Given the description of an element on the screen output the (x, y) to click on. 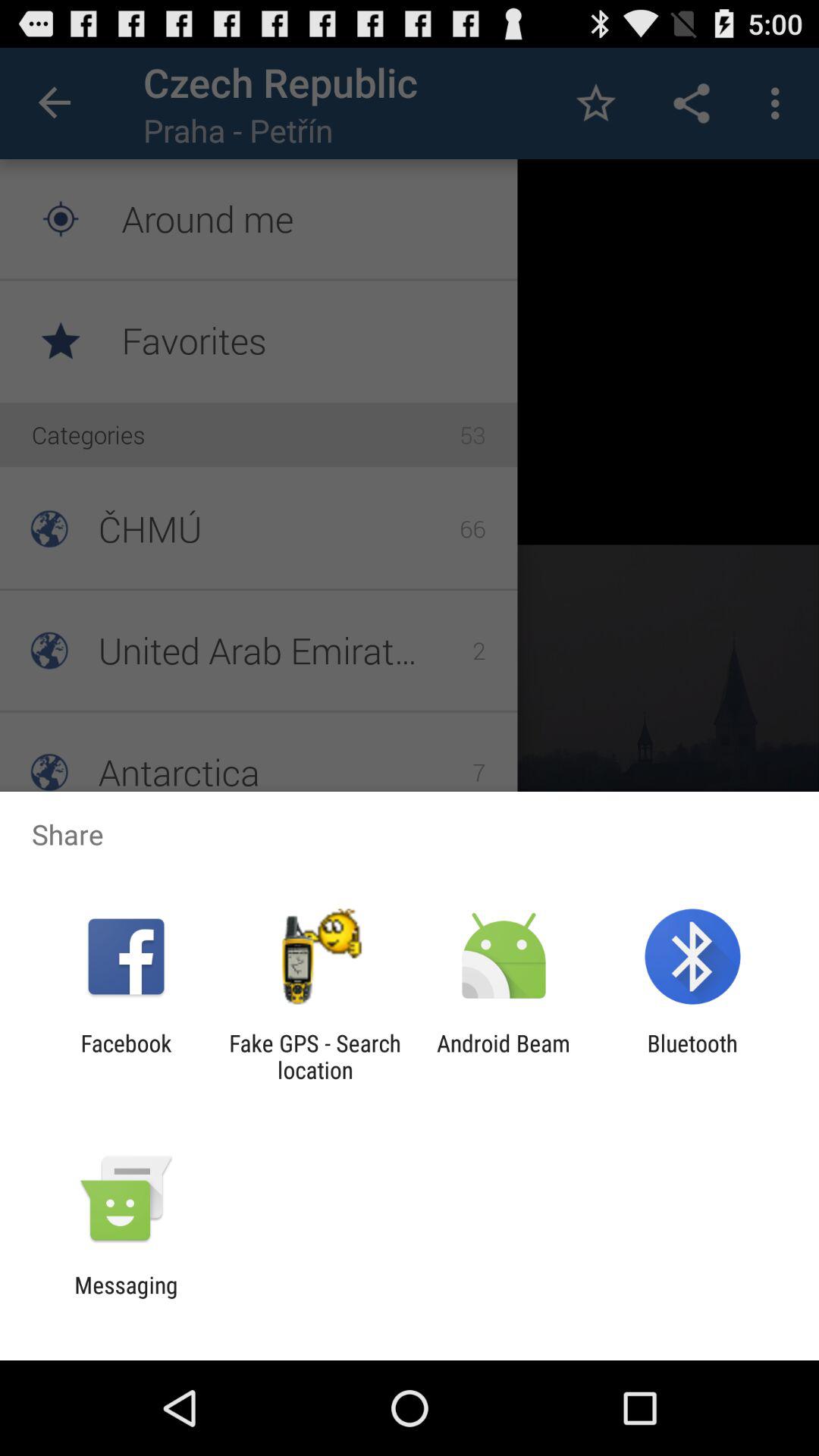
flip until the bluetooth (692, 1056)
